Given the description of an element on the screen output the (x, y) to click on. 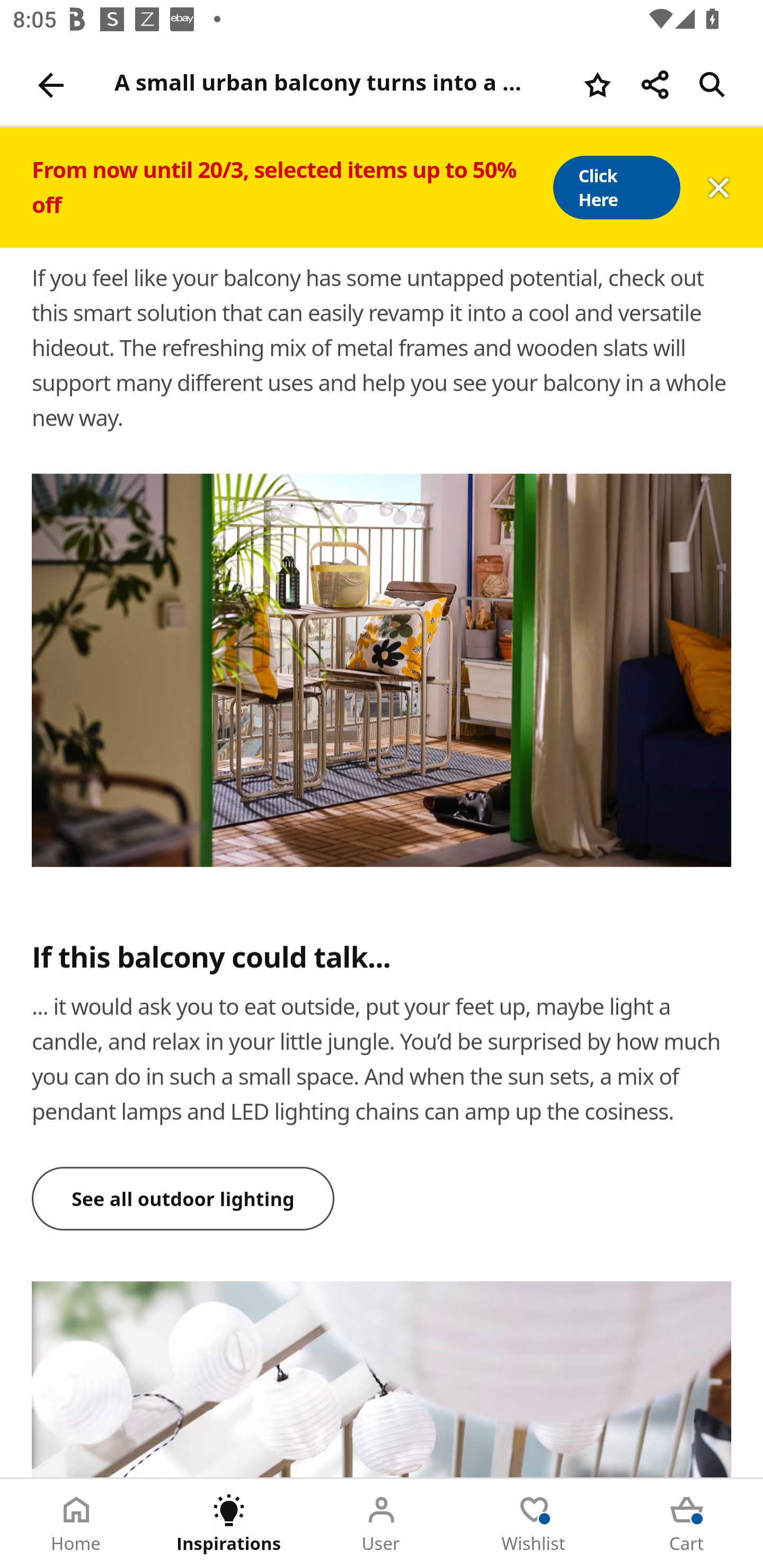
Click Here (615, 187)
See all outdoor lighting (183, 1198)
Home
Tab 1 of 5 (76, 1522)
Inspirations
Tab 2 of 5 (228, 1522)
User
Tab 3 of 5 (381, 1522)
Wishlist
Tab 4 of 5 (533, 1522)
Cart
Tab 5 of 5 (686, 1522)
